Given the description of an element on the screen output the (x, y) to click on. 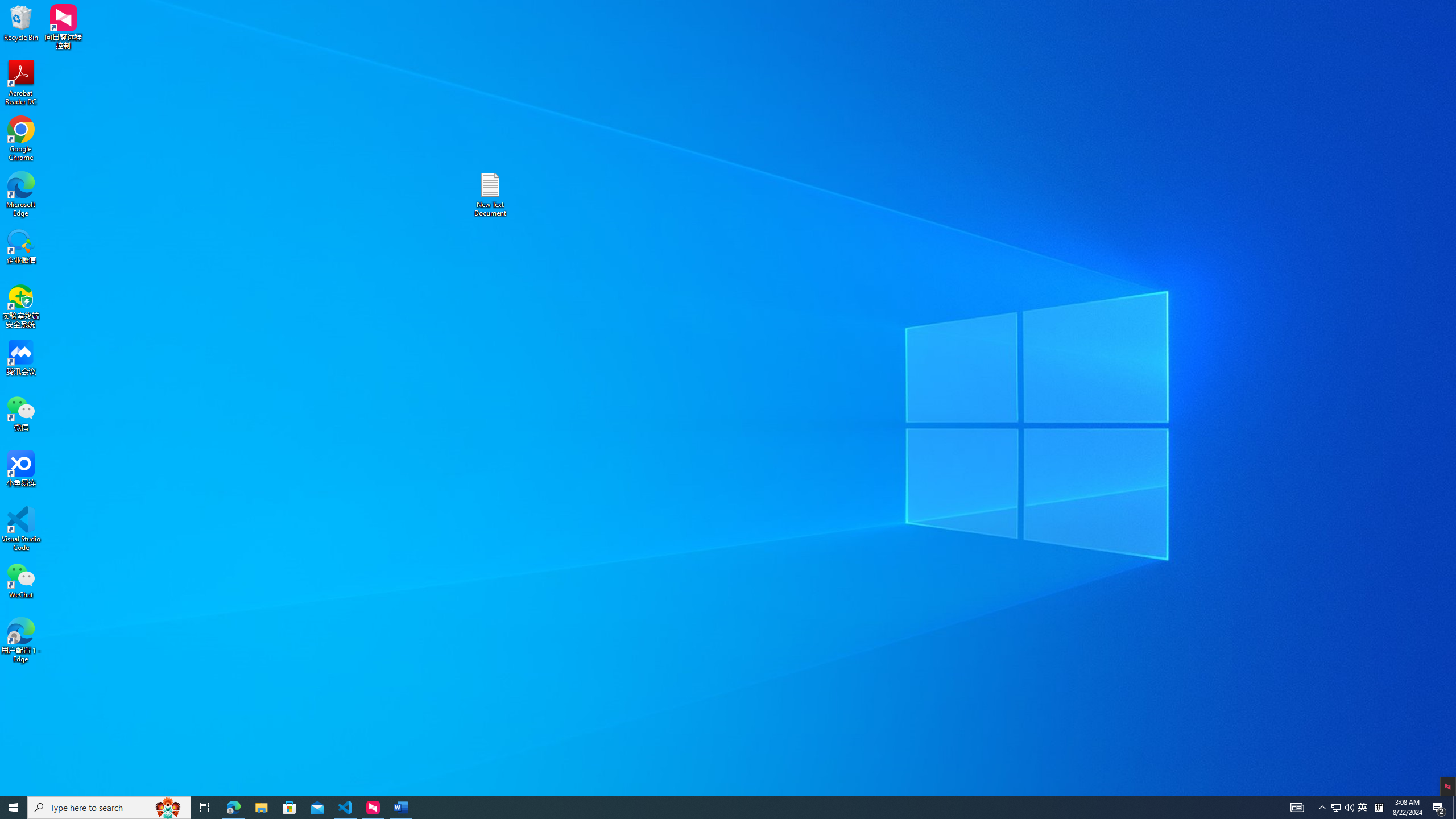
Undo AutoCorrect (96, 9)
Accessibility Checker Accessibility: Good to go (217, 790)
